Given the description of an element on the screen output the (x, y) to click on. 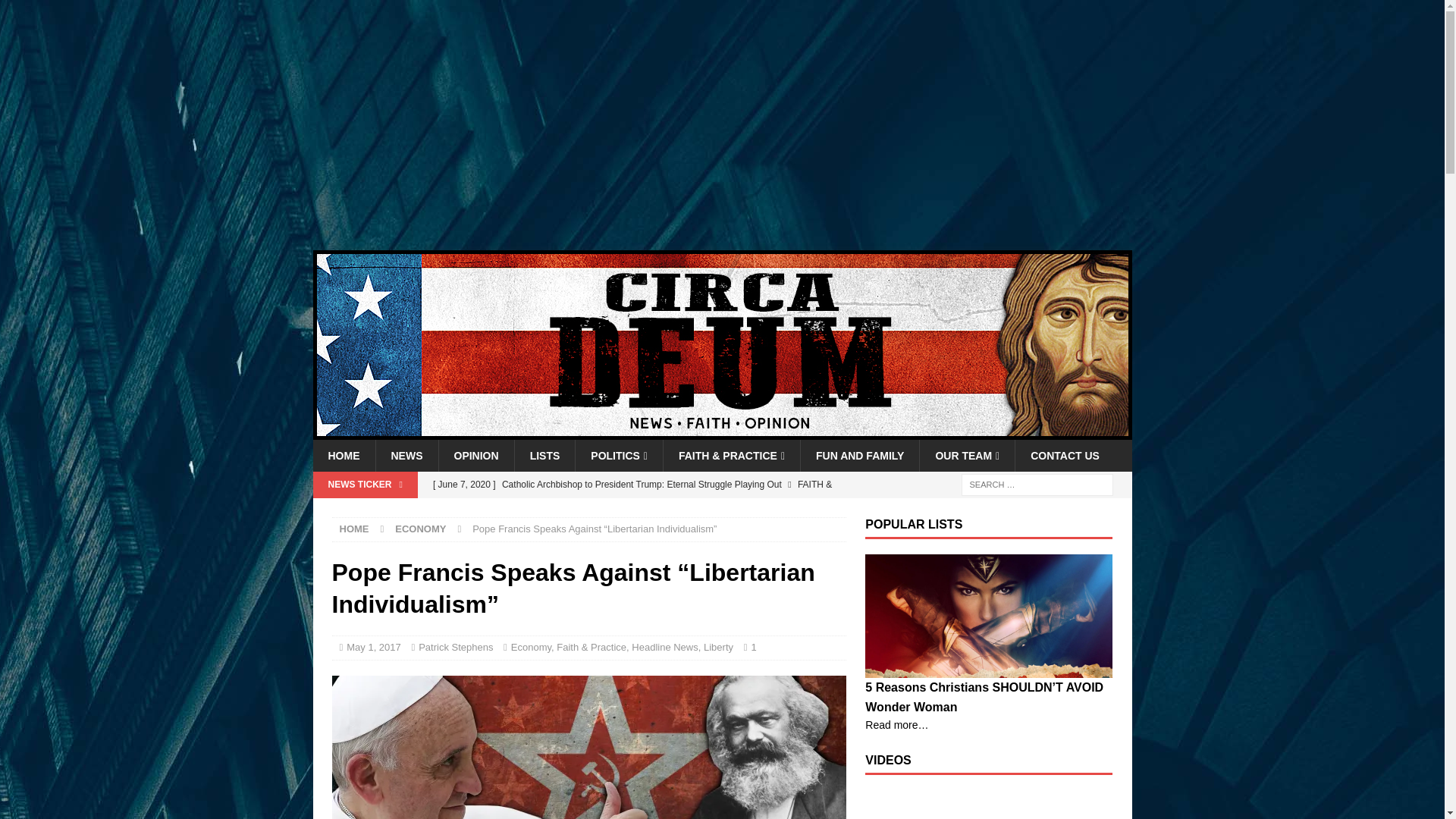
CONTACT US (1064, 455)
May 1, 2017 (373, 646)
HOME (354, 528)
LISTS (544, 455)
HOME (343, 455)
Economy (531, 646)
NEWS (406, 455)
Patrick Stephens (456, 646)
OUR TEAM (966, 455)
